Given the description of an element on the screen output the (x, y) to click on. 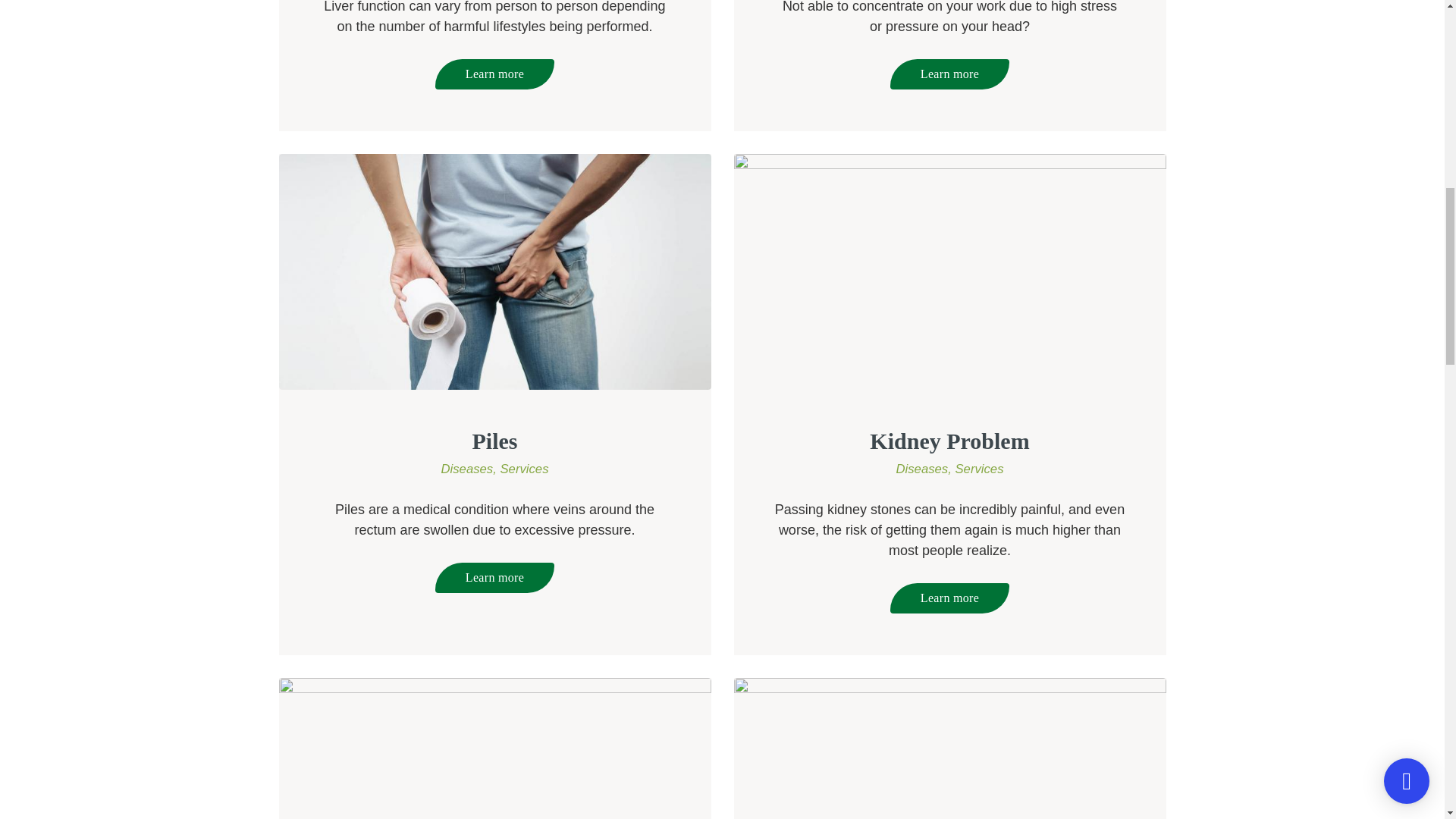
Diseases, (470, 468)
Services (523, 468)
View all posts in Services (523, 468)
View all posts in Diseases (925, 468)
View all posts in Services (979, 468)
Learn more (949, 73)
View all posts in Diseases (470, 468)
Piles (494, 441)
Learn more (494, 73)
